Given the description of an element on the screen output the (x, y) to click on. 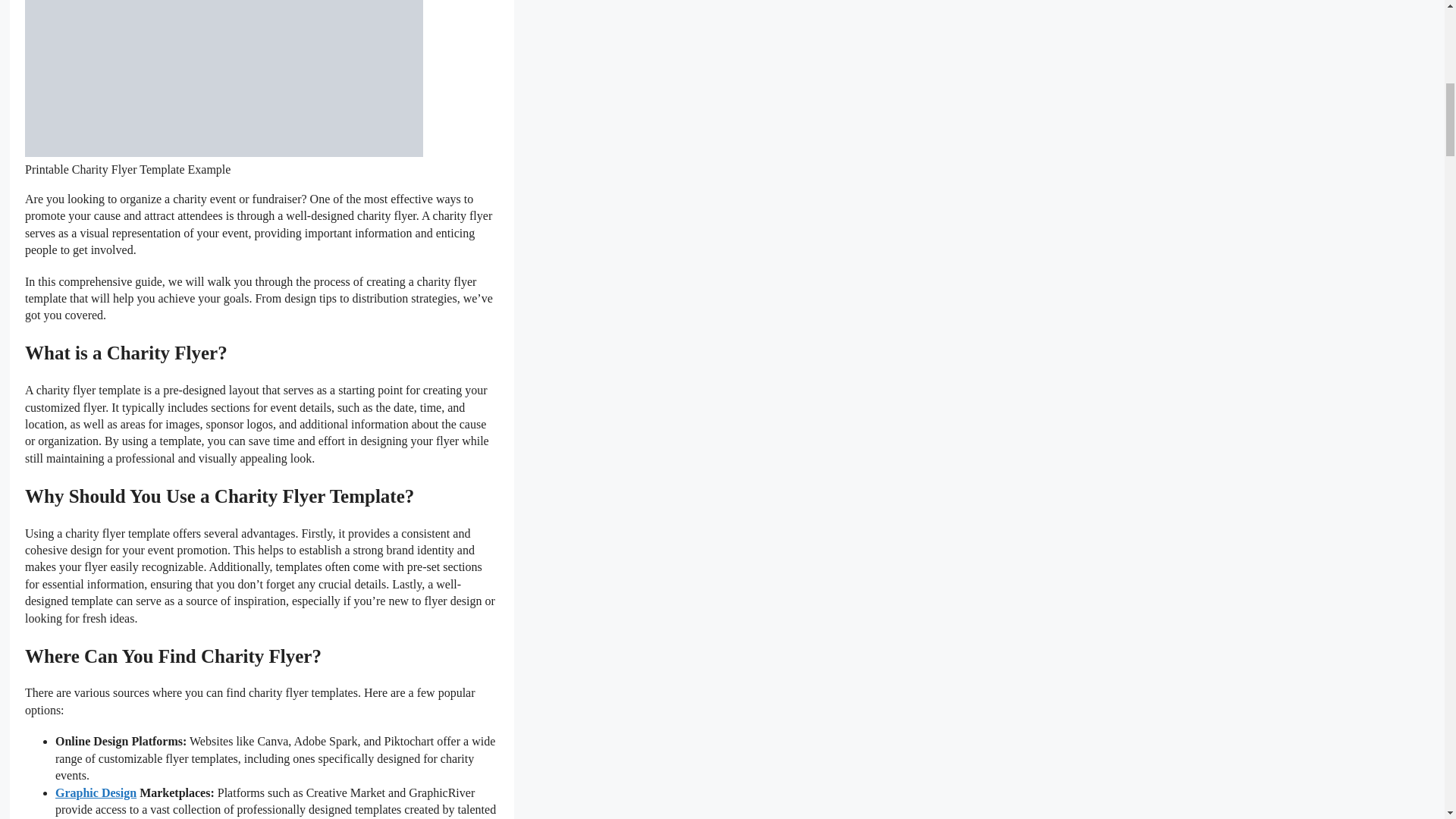
Scroll back to top (1406, 720)
Graphic Design (95, 792)
Printable Charity Flyer Template Example (223, 78)
